Given the description of an element on the screen output the (x, y) to click on. 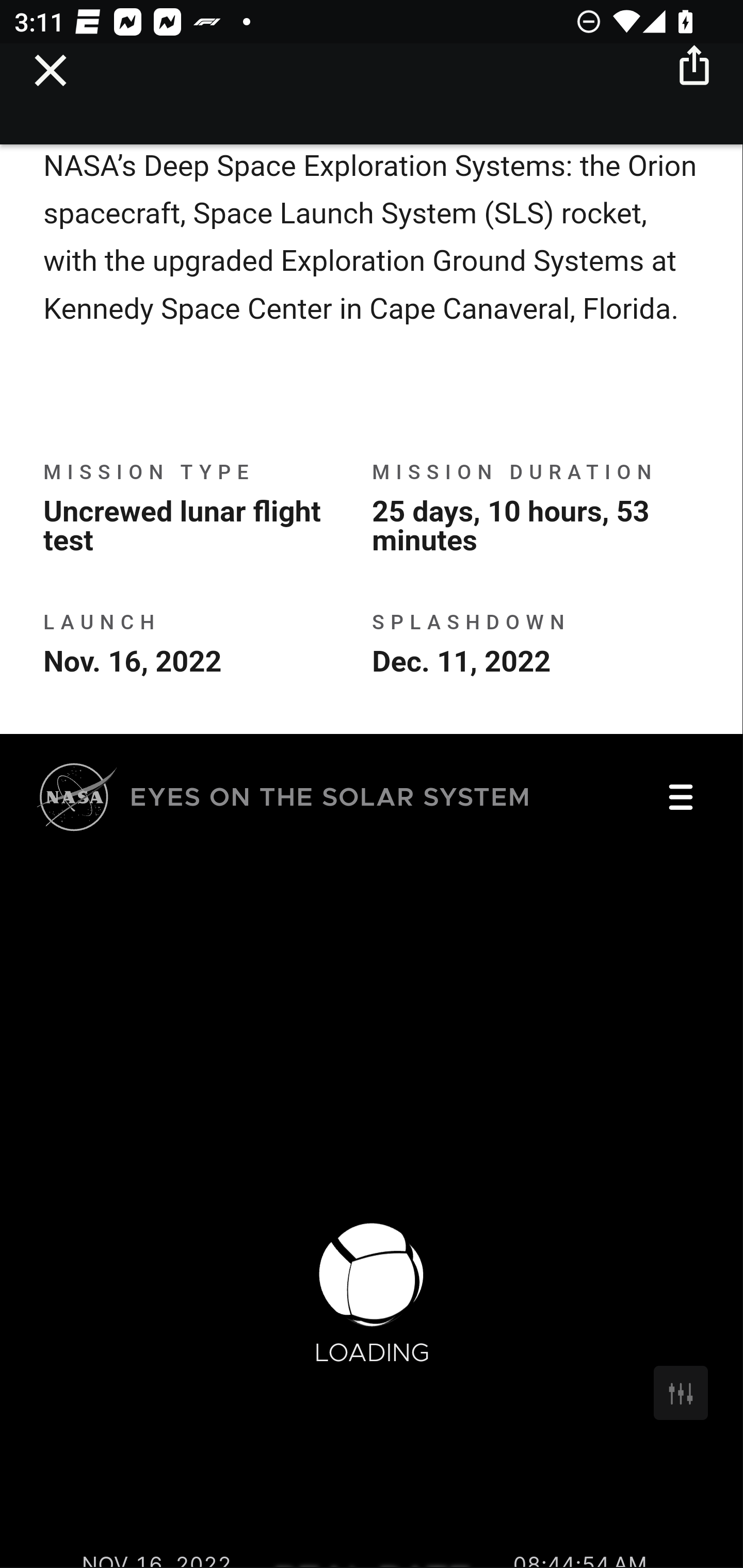
EYES ON THE SOLAR SYSTEM (283, 800)
show or hide settings (681, 1393)
